Given the description of an element on the screen output the (x, y) to click on. 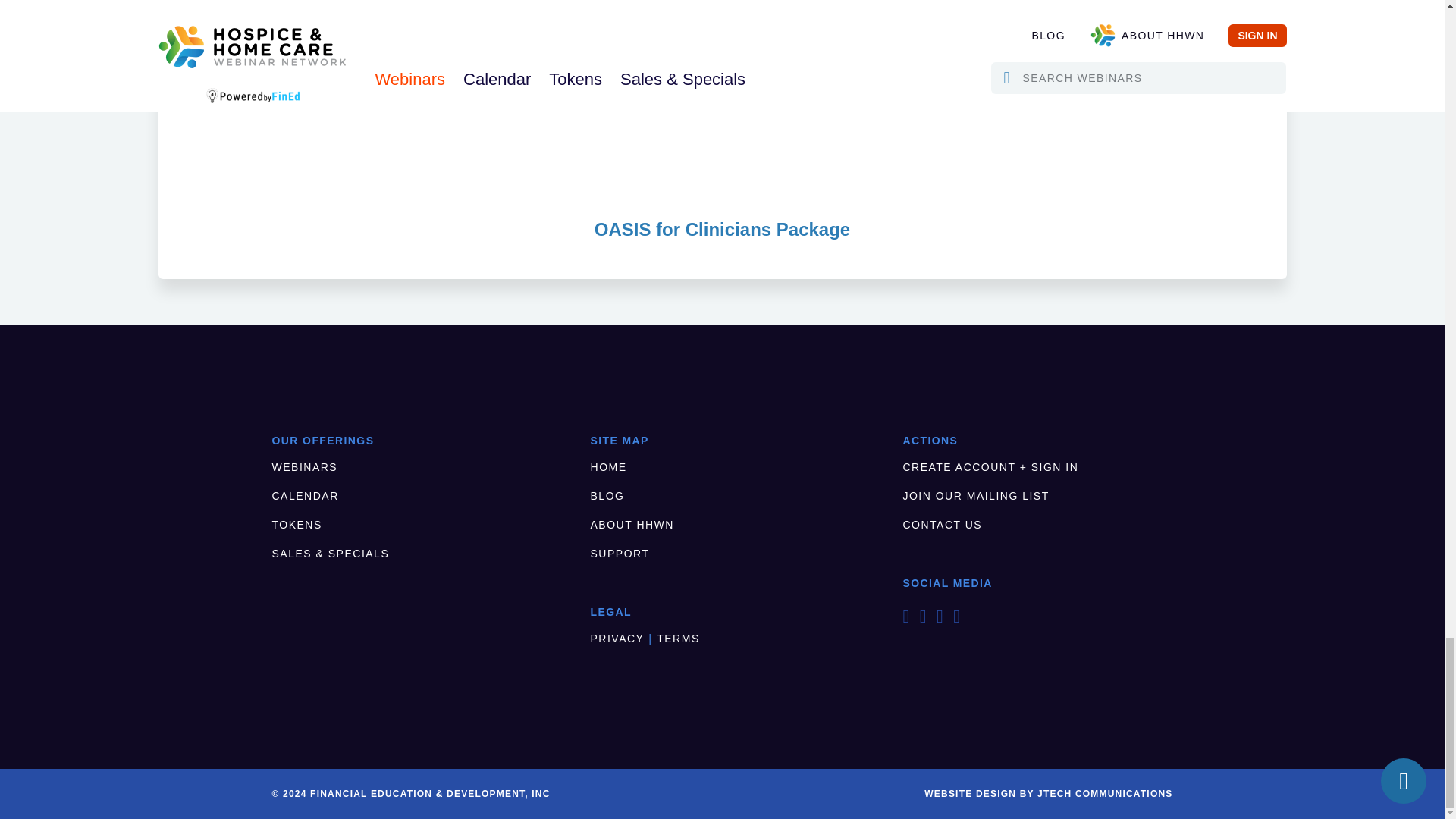
SUPPORT (620, 553)
TERMS (678, 638)
ABOUT HHWN (632, 524)
OASIS for Clinicians Package (722, 127)
WEBINARS (303, 467)
HOME (609, 467)
TOKENS (295, 524)
PRIVACY (618, 638)
BLOG (607, 495)
CALENDAR (303, 495)
